Given the description of an element on the screen output the (x, y) to click on. 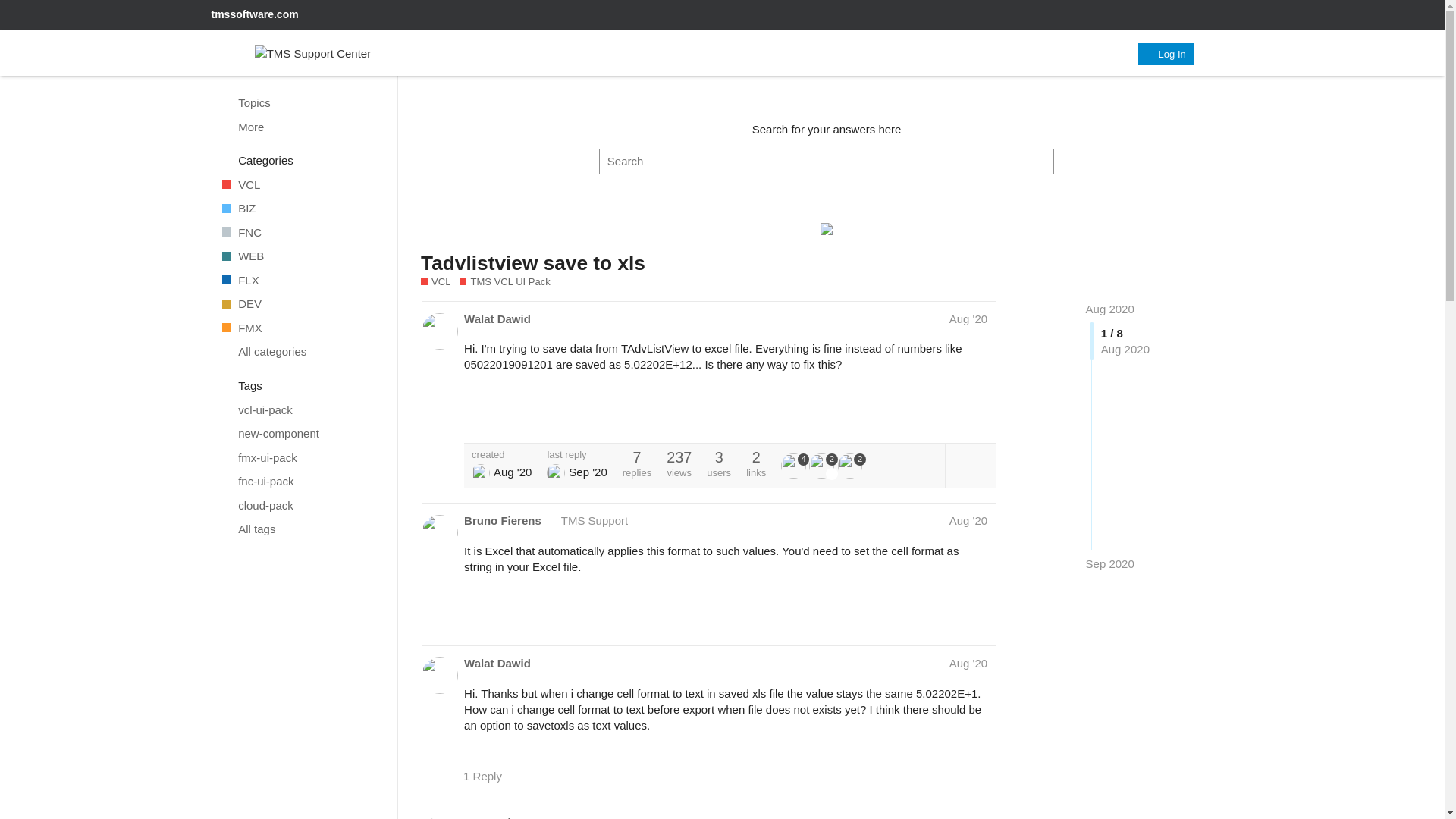
Tadvlistview save to xls (532, 262)
Components for Windows development (301, 184)
All topics (301, 102)
FMX (301, 328)
Keyboard Shortcuts (378, 805)
Topics (301, 102)
All categories (301, 351)
FNC (301, 232)
VCL (434, 282)
cloud-pack (301, 504)
